Given the description of an element on the screen output the (x, y) to click on. 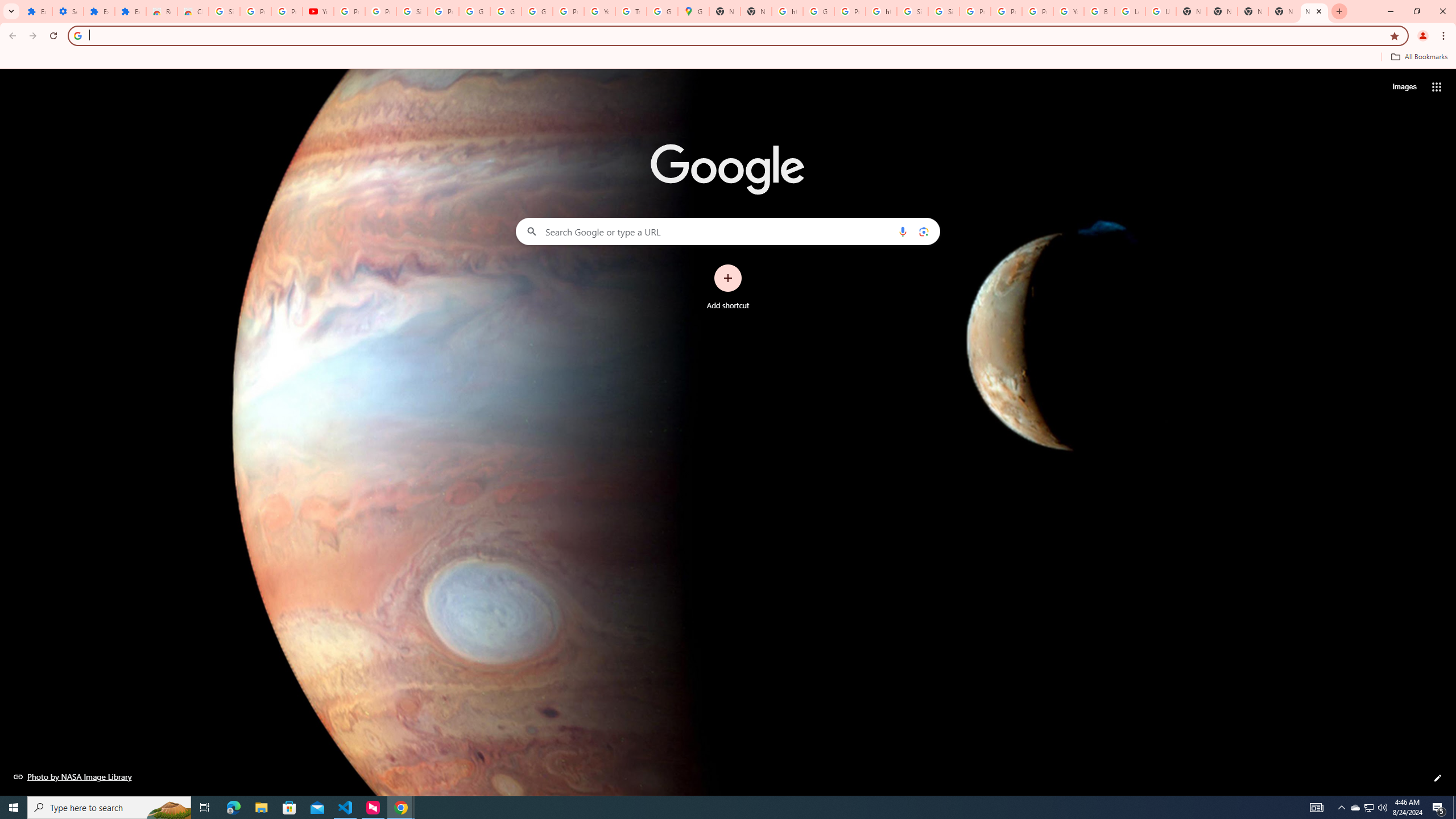
https://scholar.google.com/ (787, 11)
Settings (67, 11)
Extensions (98, 11)
Reviews: Helix Fruit Jump Arcade Game (161, 11)
Add shortcut (727, 287)
New Tab (1222, 11)
Extensions (36, 11)
